Given the description of an element on the screen output the (x, y) to click on. 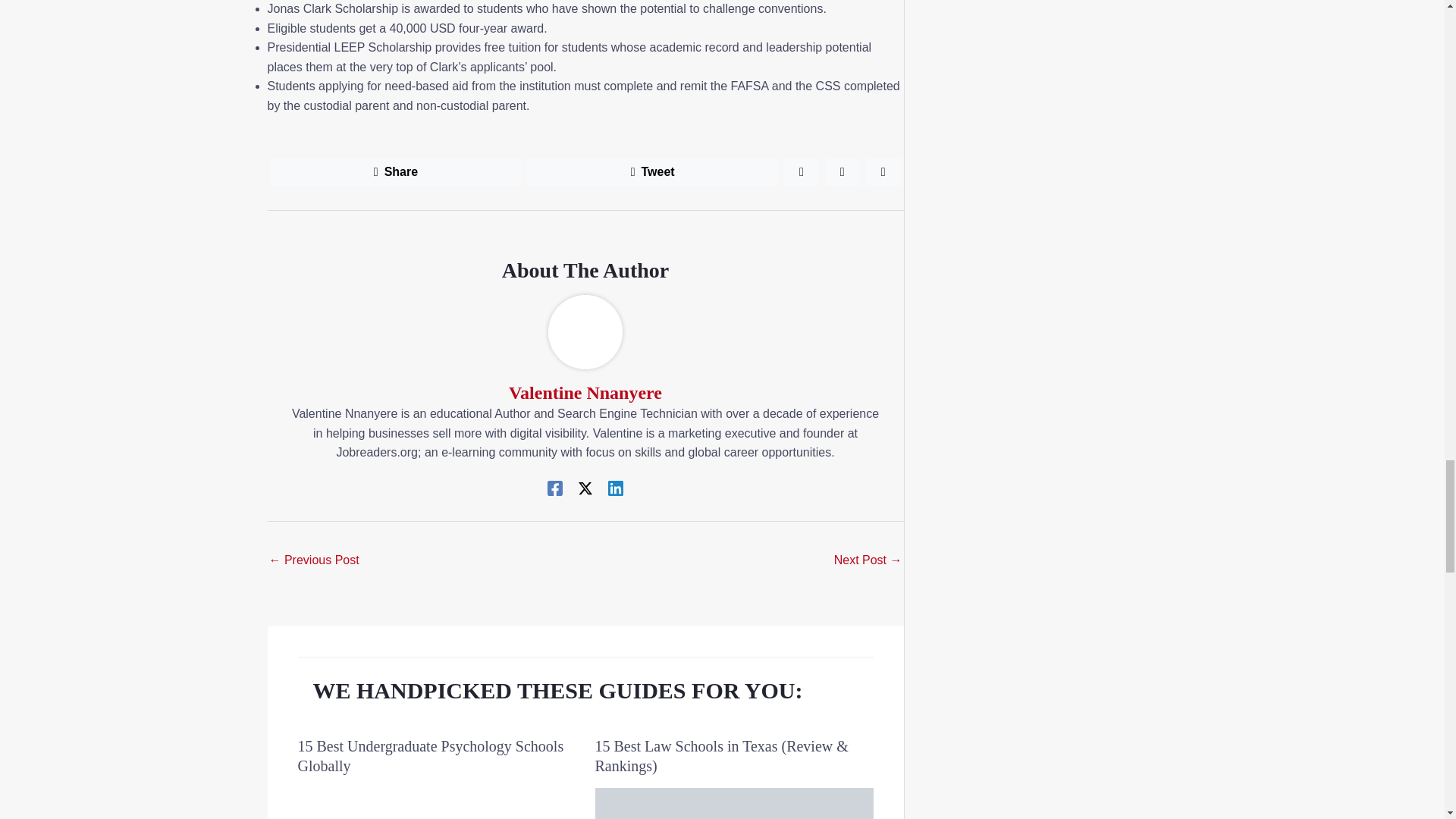
Tweet (652, 171)
Valentine Nnanyere (585, 393)
Share (395, 171)
